Given the description of an element on the screen output the (x, y) to click on. 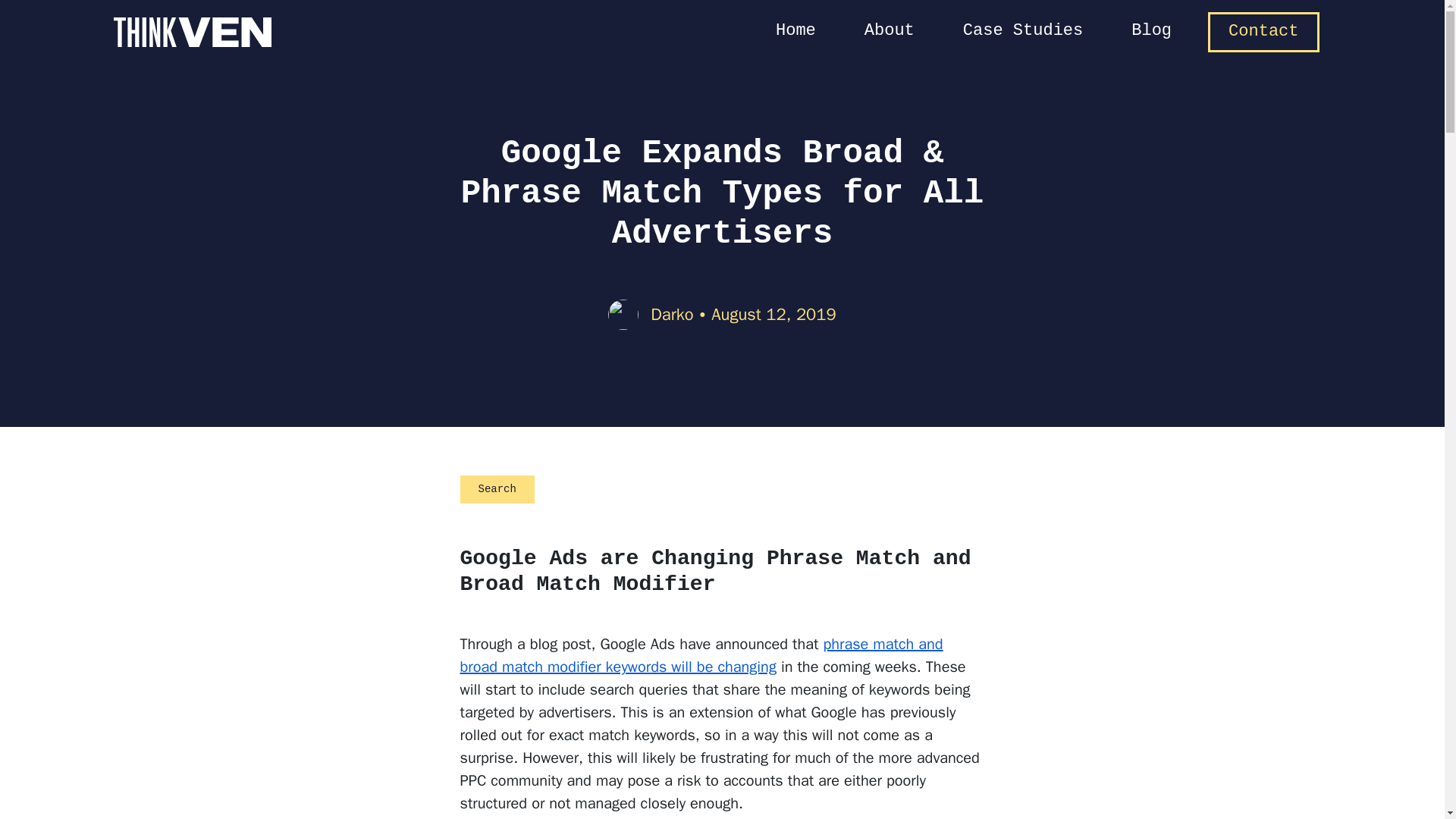
About (889, 31)
Blog (1151, 31)
Case Studies (1022, 31)
Think VEN (191, 31)
Contact (1263, 32)
Home (795, 31)
